Given the description of an element on the screen output the (x, y) to click on. 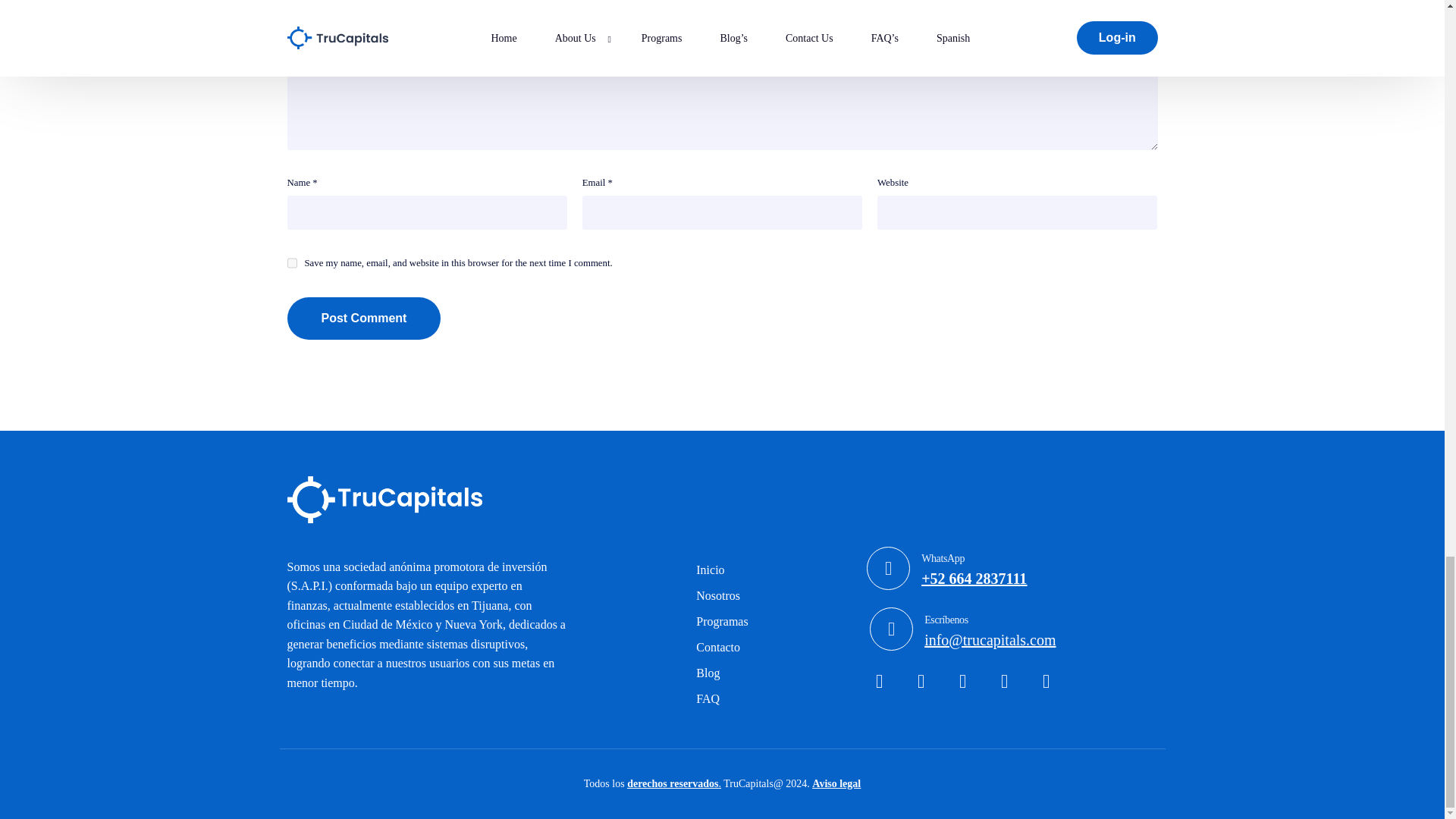
Aviso legal (836, 783)
FAQ (721, 698)
Programas (721, 634)
Blog (721, 621)
Post Comment (721, 673)
Inicio (363, 318)
Contacto (721, 570)
derechos reservados (721, 647)
